Given the description of an element on the screen output the (x, y) to click on. 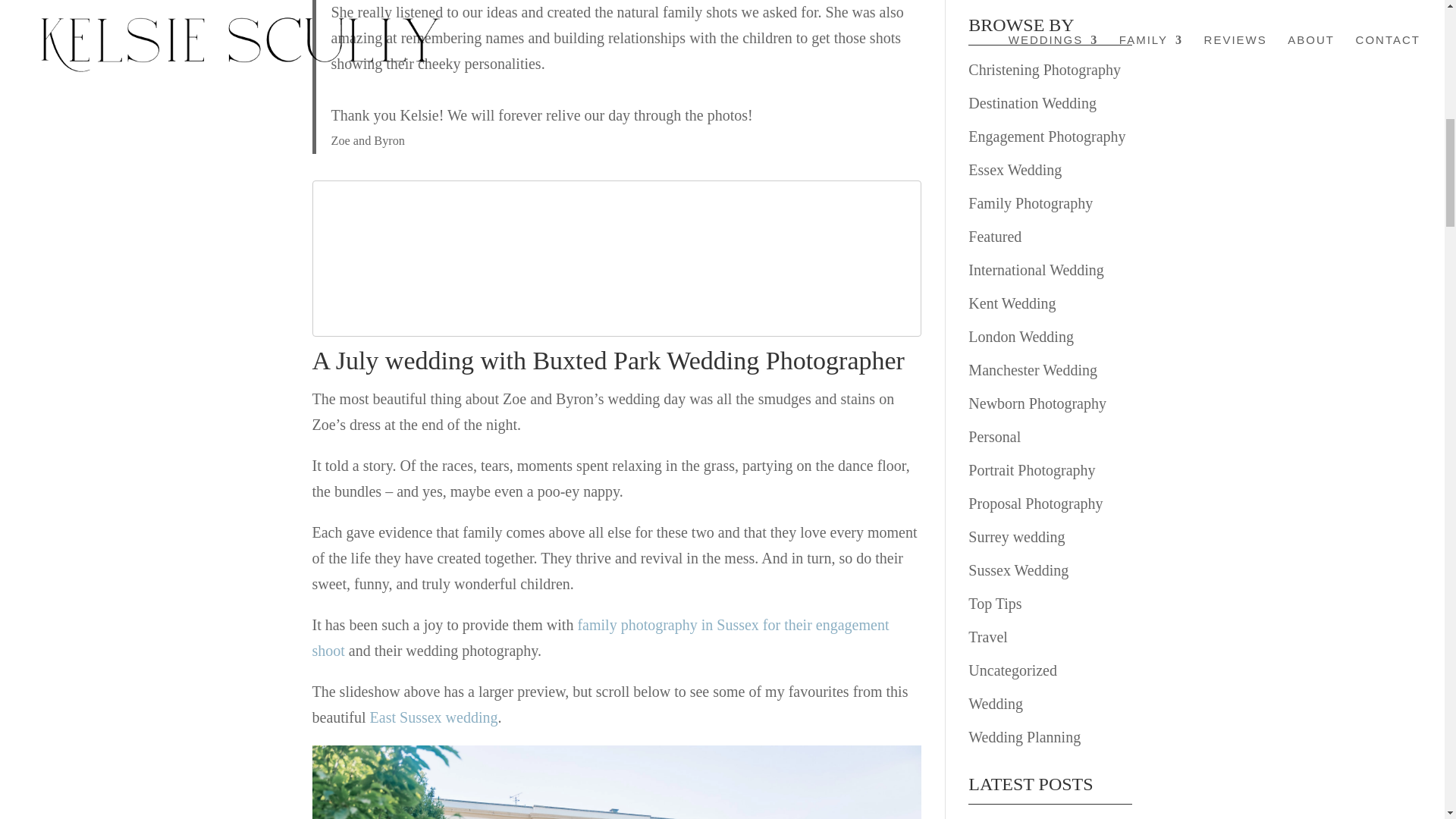
family photography in Sussex for their engagement shoot (601, 636)
East Sussex wedding (433, 716)
